Given the description of an element on the screen output the (x, y) to click on. 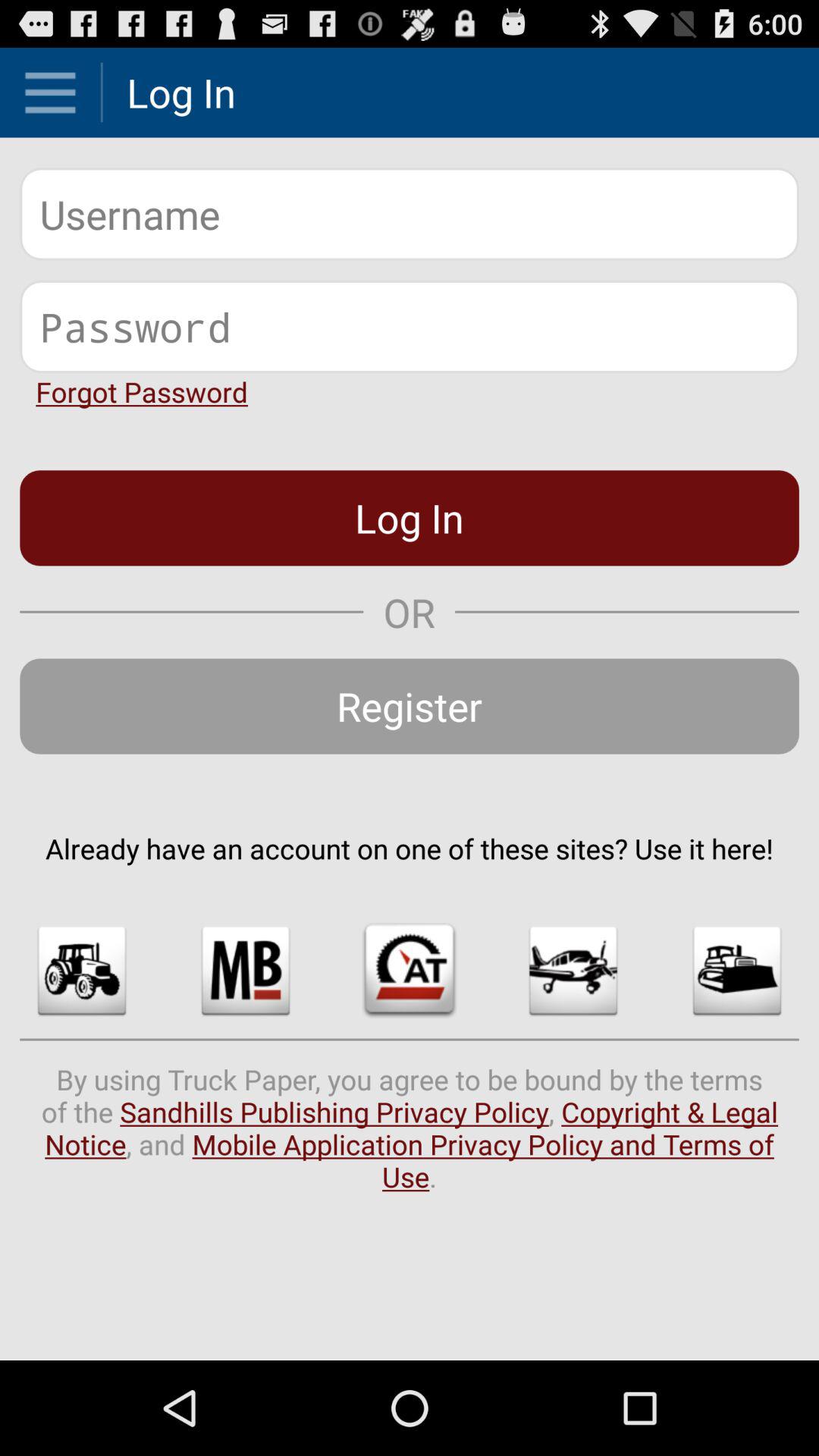
launch item below already have an (573, 970)
